Given the description of an element on the screen output the (x, y) to click on. 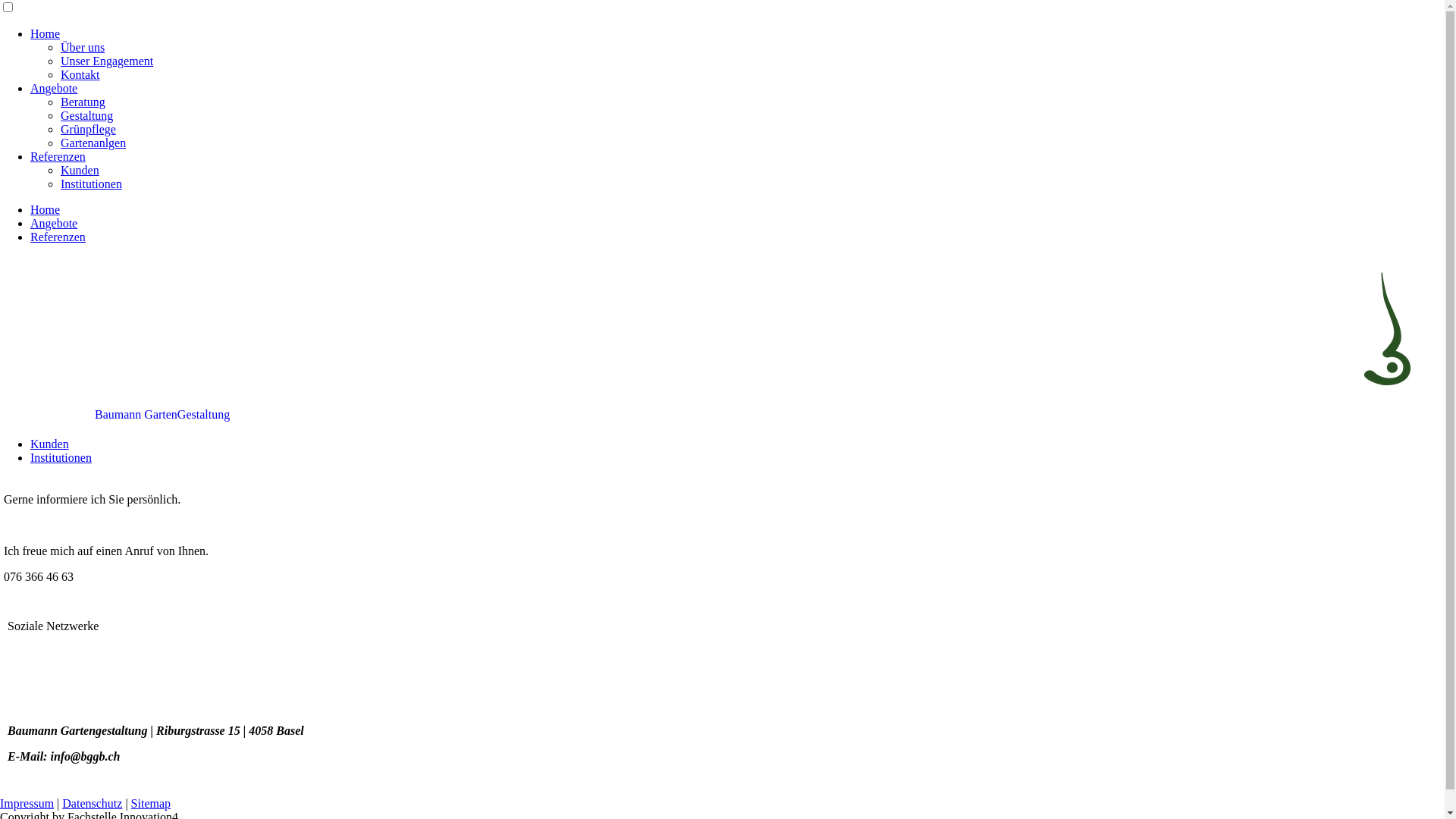
Gartenanlgen Element type: text (92, 142)
Kunden Element type: text (79, 169)
Angebote Element type: text (53, 222)
Institutionen Element type: text (60, 457)
Unser Engagement Element type: text (106, 60)
Kunden Element type: text (49, 443)
Kontakt Element type: text (80, 74)
                              Baumann GartenGestaltung Element type: text (116, 413)
Impressum Element type: text (26, 803)
Referenzen Element type: text (57, 236)
Beratung Element type: text (82, 101)
Home Element type: text (44, 33)
Gestaltung Element type: text (86, 115)
Angebote Element type: text (53, 87)
Home Element type: text (44, 209)
Referenzen Element type: text (57, 156)
Datenschutz Element type: text (92, 803)
Sitemap Element type: text (150, 803)
Institutionen Element type: text (91, 183)
